Given the description of an element on the screen output the (x, y) to click on. 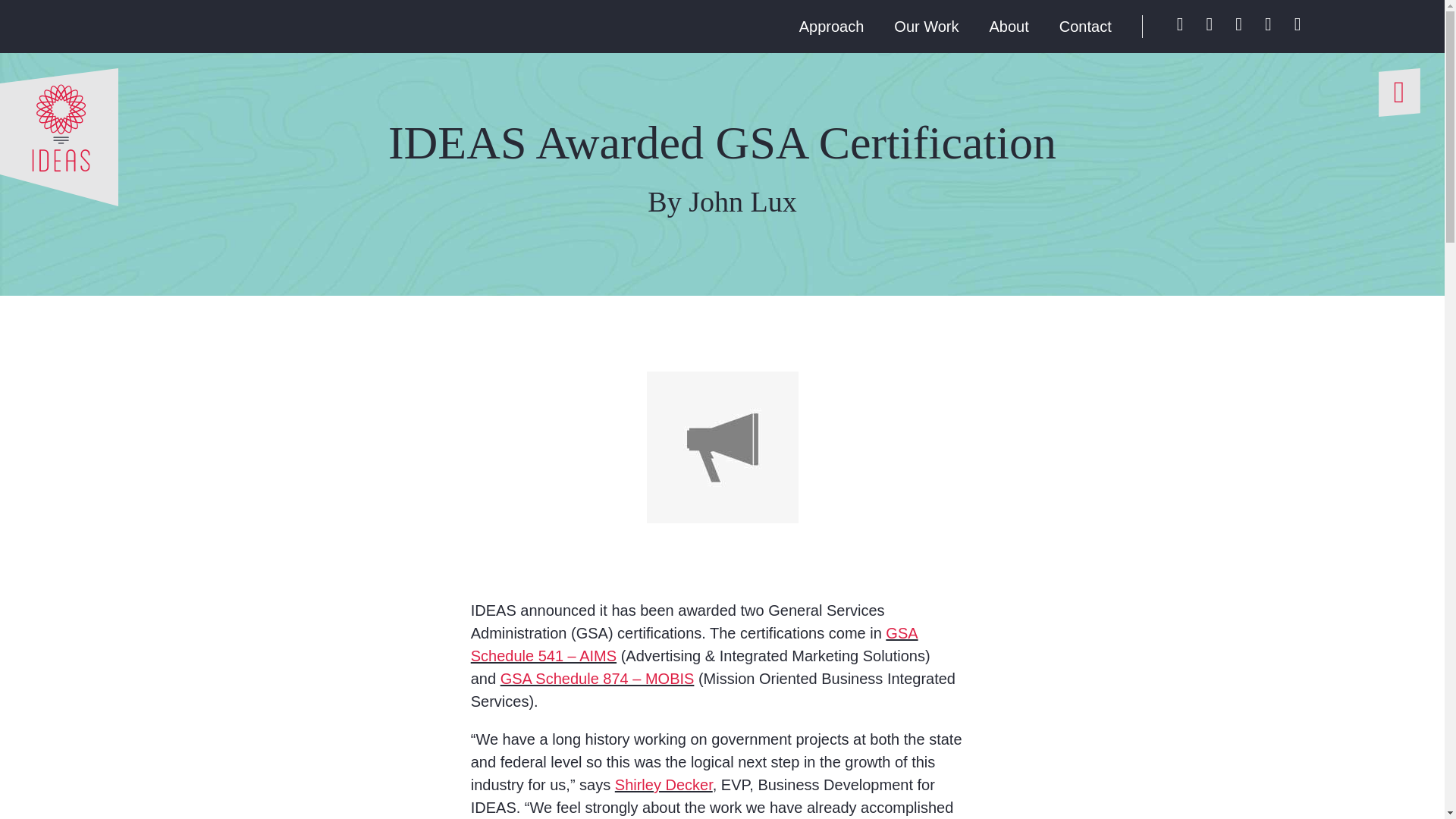
About (1009, 26)
Approach (831, 26)
Shirley Decker (663, 784)
Contact (1085, 26)
Toggle Navigation (1398, 92)
Our Work (925, 26)
